Given the description of an element on the screen output the (x, y) to click on. 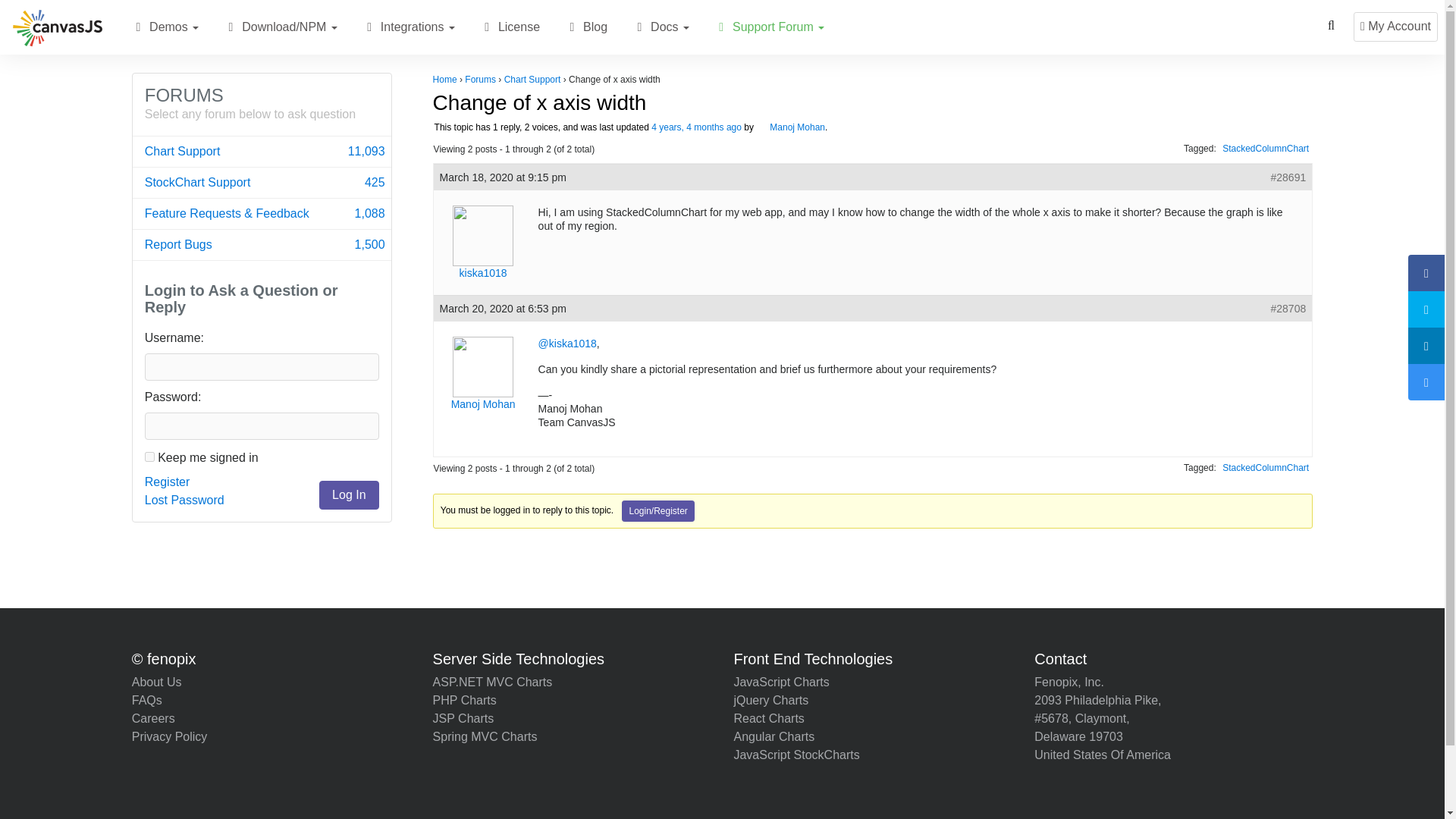
Docs (660, 27)
Blog (585, 27)
Demos (171, 27)
View Manoj Mohan's profile (790, 127)
Support Forum (768, 27)
Chart Support (261, 151)
Chart Demos (139, 27)
Integrations (408, 27)
Support Forum (721, 27)
Register (167, 482)
